Given the description of an element on the screen output the (x, y) to click on. 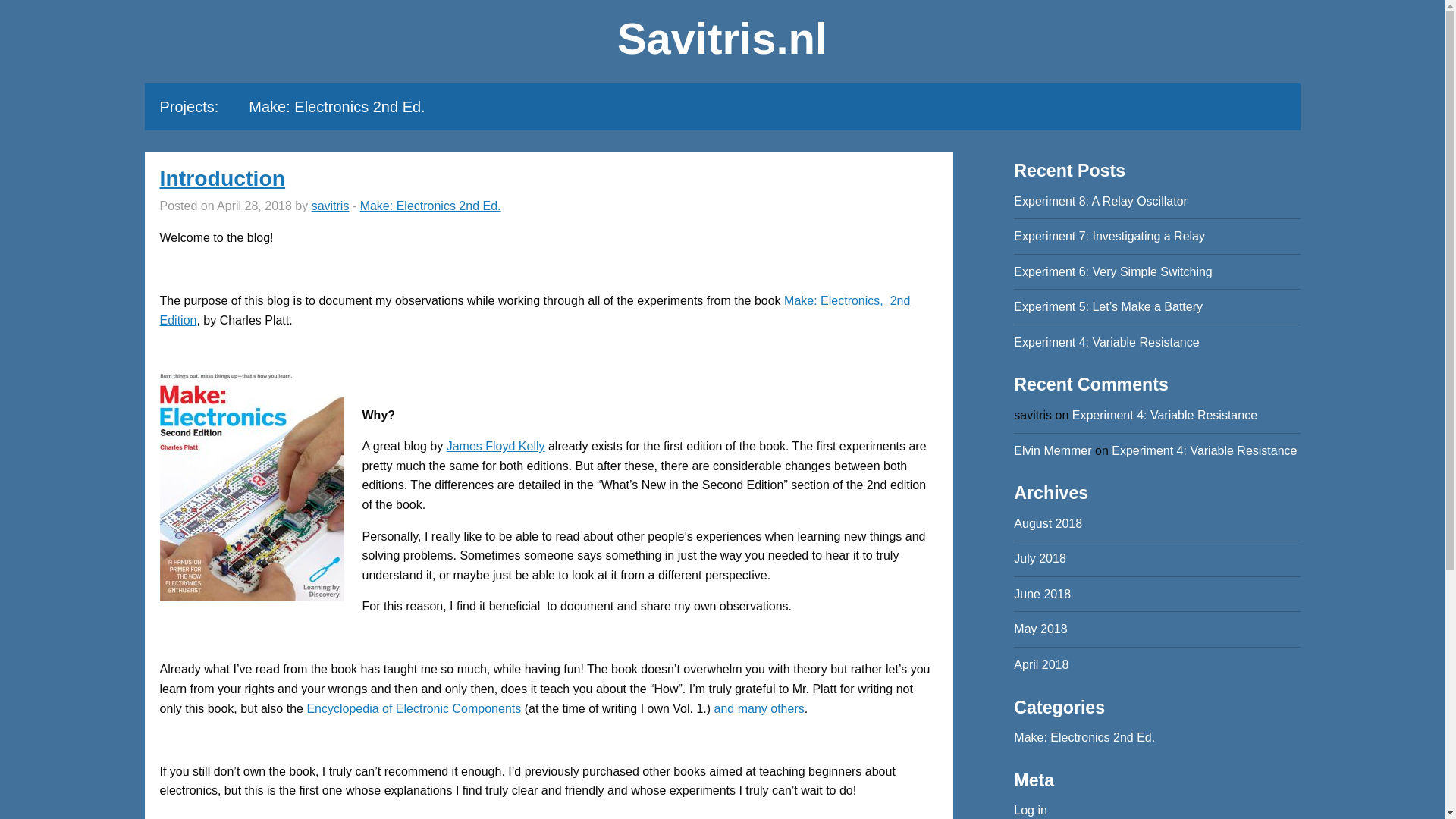
May 2018 (1040, 628)
Log in (1029, 809)
Make: Electronics 2nd Ed. (1083, 737)
Experiment 6: Very Simple Switching (1112, 271)
Experiment 7: Investigating a Relay (1109, 236)
July 2018 (1039, 558)
James Floyd Kelly (495, 445)
Encyclopedia of Electronic Components (413, 707)
and many others (759, 707)
Experiment 4: Variable Resistance (1204, 450)
